Given the description of an element on the screen output the (x, y) to click on. 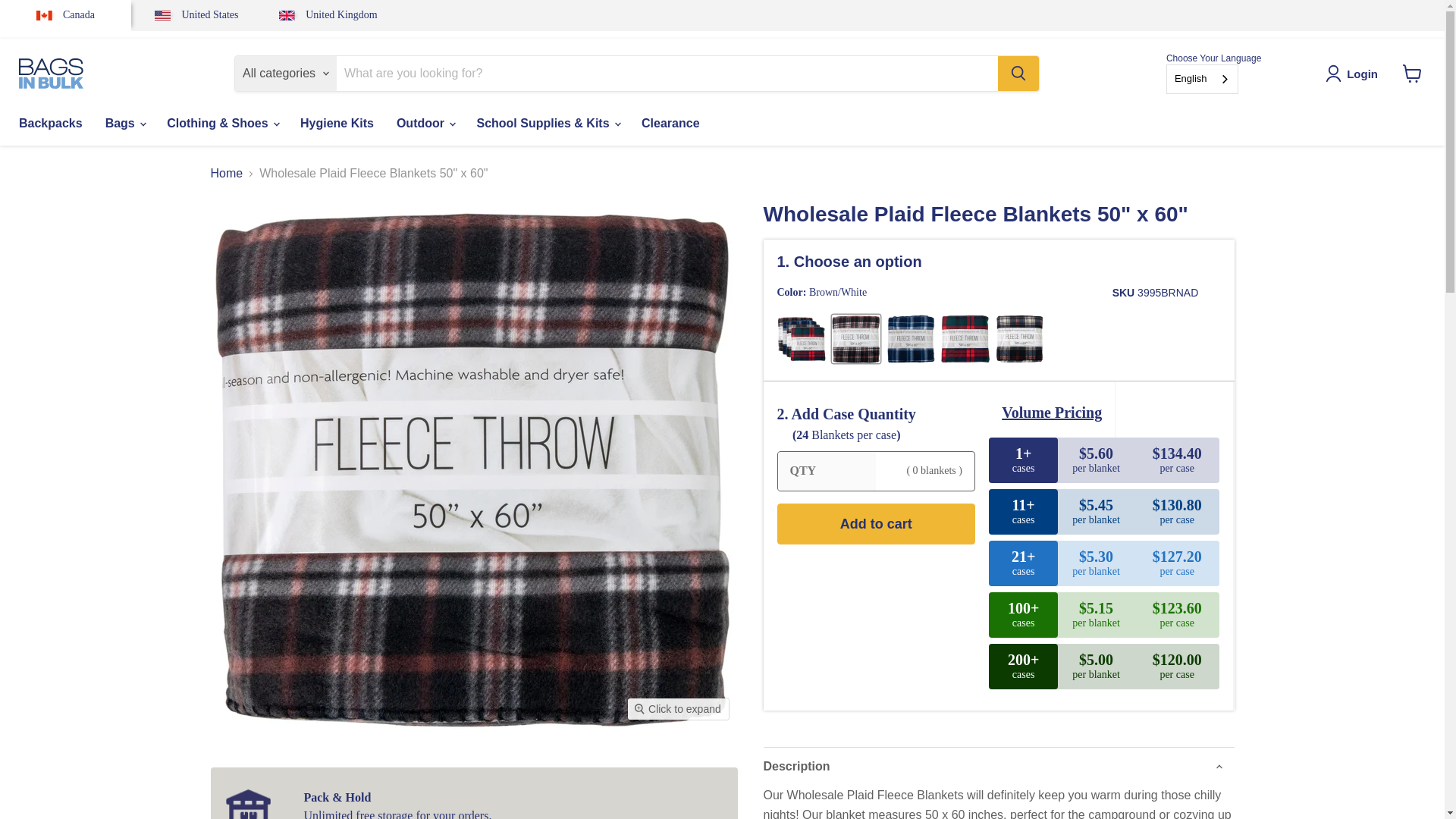
View cart (1411, 73)
Login (1354, 73)
United Kingdom (327, 15)
Backpacks (50, 123)
English (1202, 79)
United States (196, 15)
Hygiene Kits (336, 123)
